Given the description of an element on the screen output the (x, y) to click on. 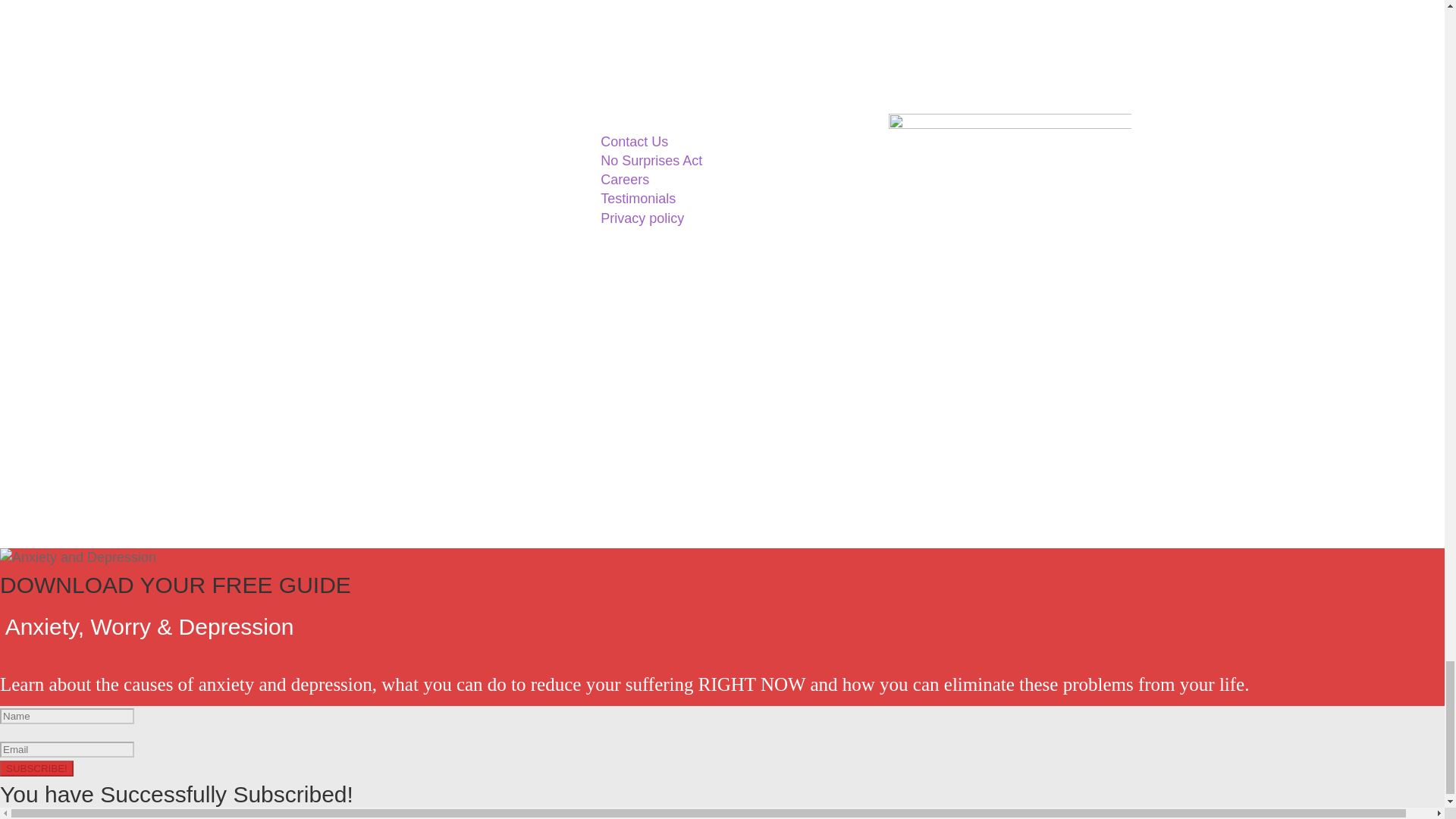
Contact Us (633, 141)
Privacy policy (641, 217)
SUBSCRIBE! (37, 768)
Testimonials (637, 198)
Careers (624, 179)
No Surprises Act (650, 160)
